Given the description of an element on the screen output the (x, y) to click on. 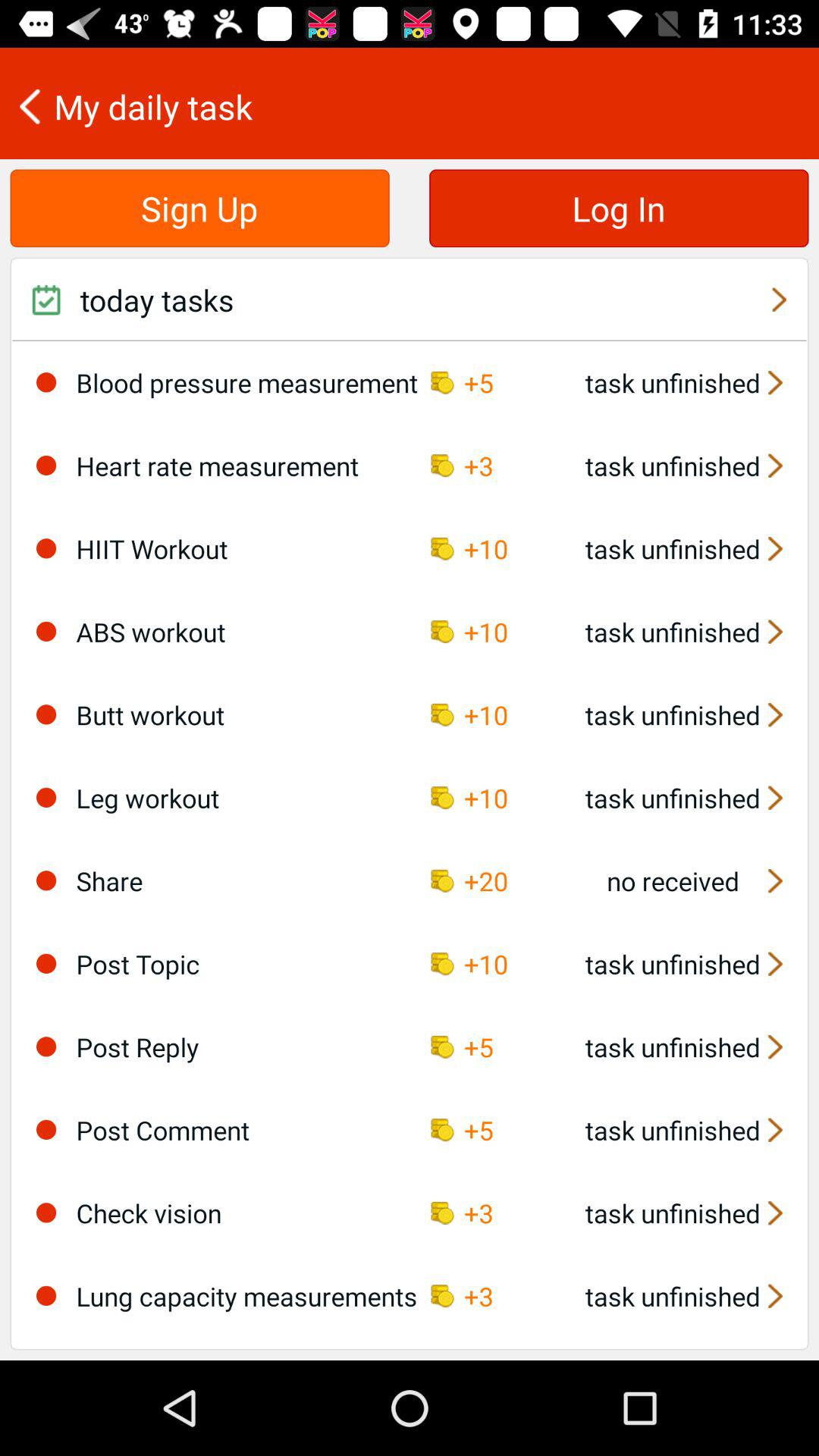
choose abs workout (46, 631)
